Given the description of an element on the screen output the (x, y) to click on. 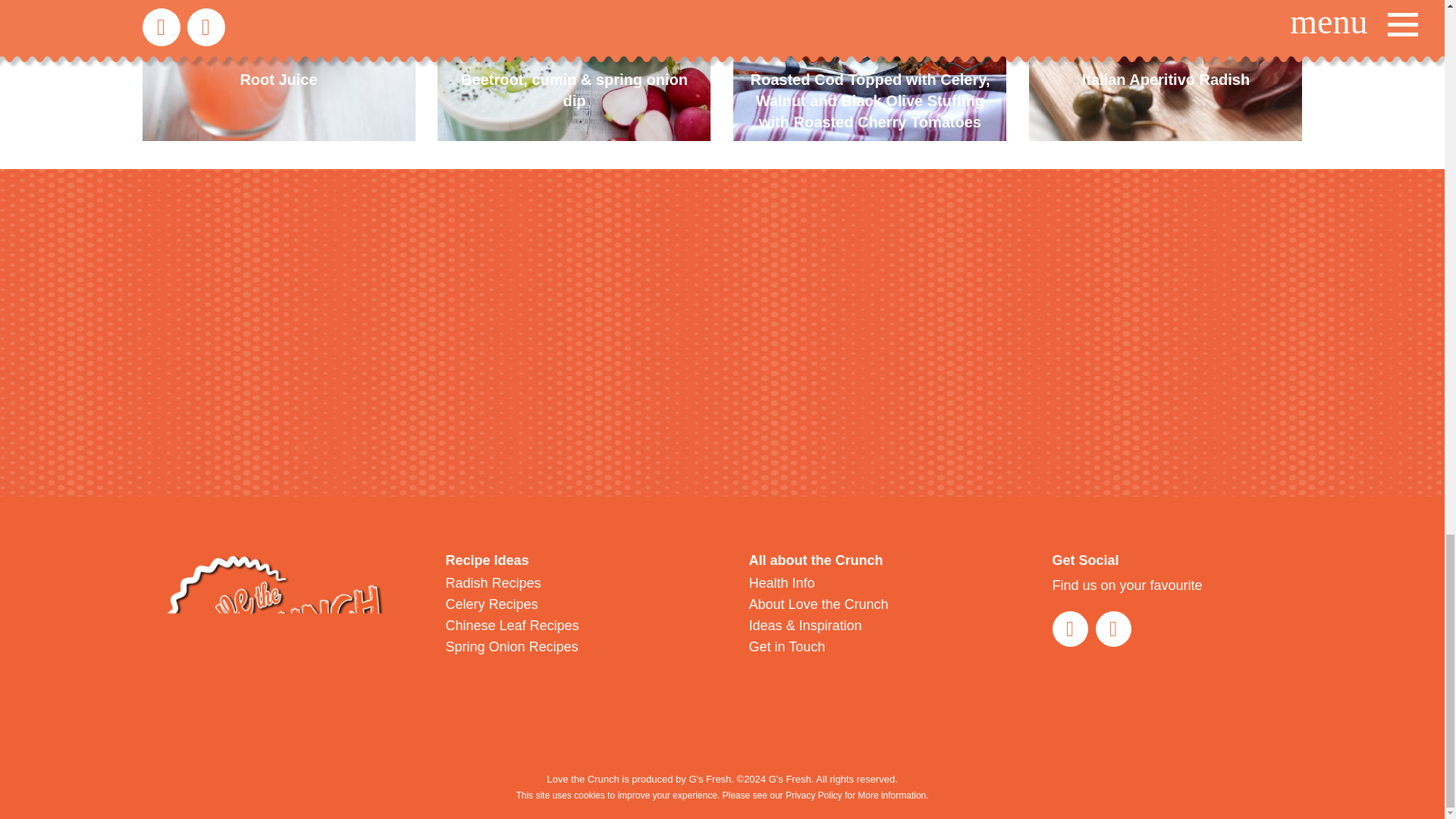
Get in Touch (787, 646)
Radish Recipes (493, 582)
Celery Recipes (491, 604)
Spring Onion Recipes (511, 646)
Twitter (1069, 628)
About Love the Crunch (818, 604)
Italian Aperitivo Radish (1165, 70)
Health Info (782, 582)
Root Juice (278, 70)
